Given the description of an element on the screen output the (x, y) to click on. 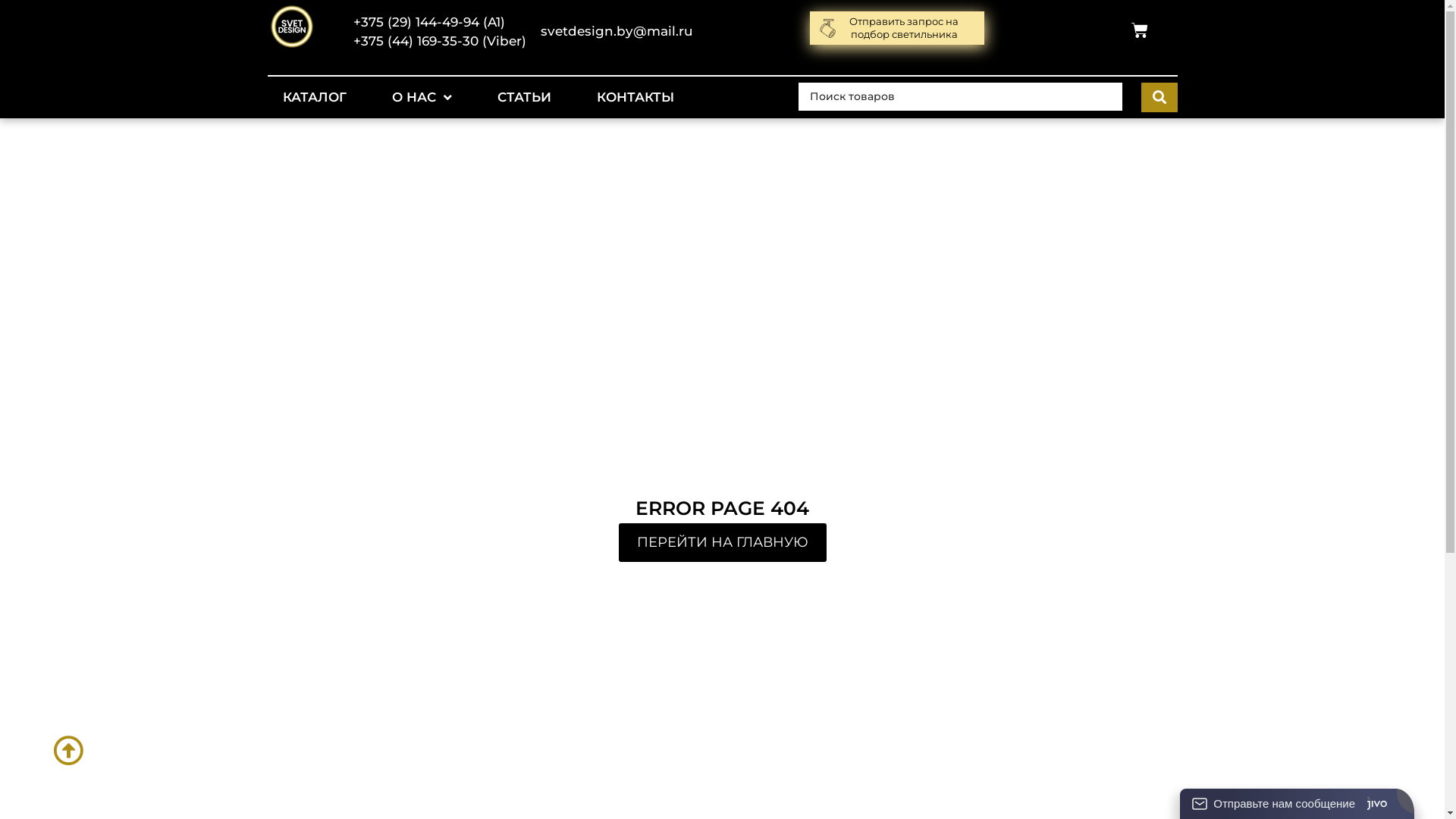
+375 (44) 169-35-30 (Viber) Element type: text (439, 40)
+375 (29) 144-49-94 (A1) Element type: text (429, 21)
svetdesign.by@mail.ru Element type: text (615, 30)
